Given the description of an element on the screen output the (x, y) to click on. 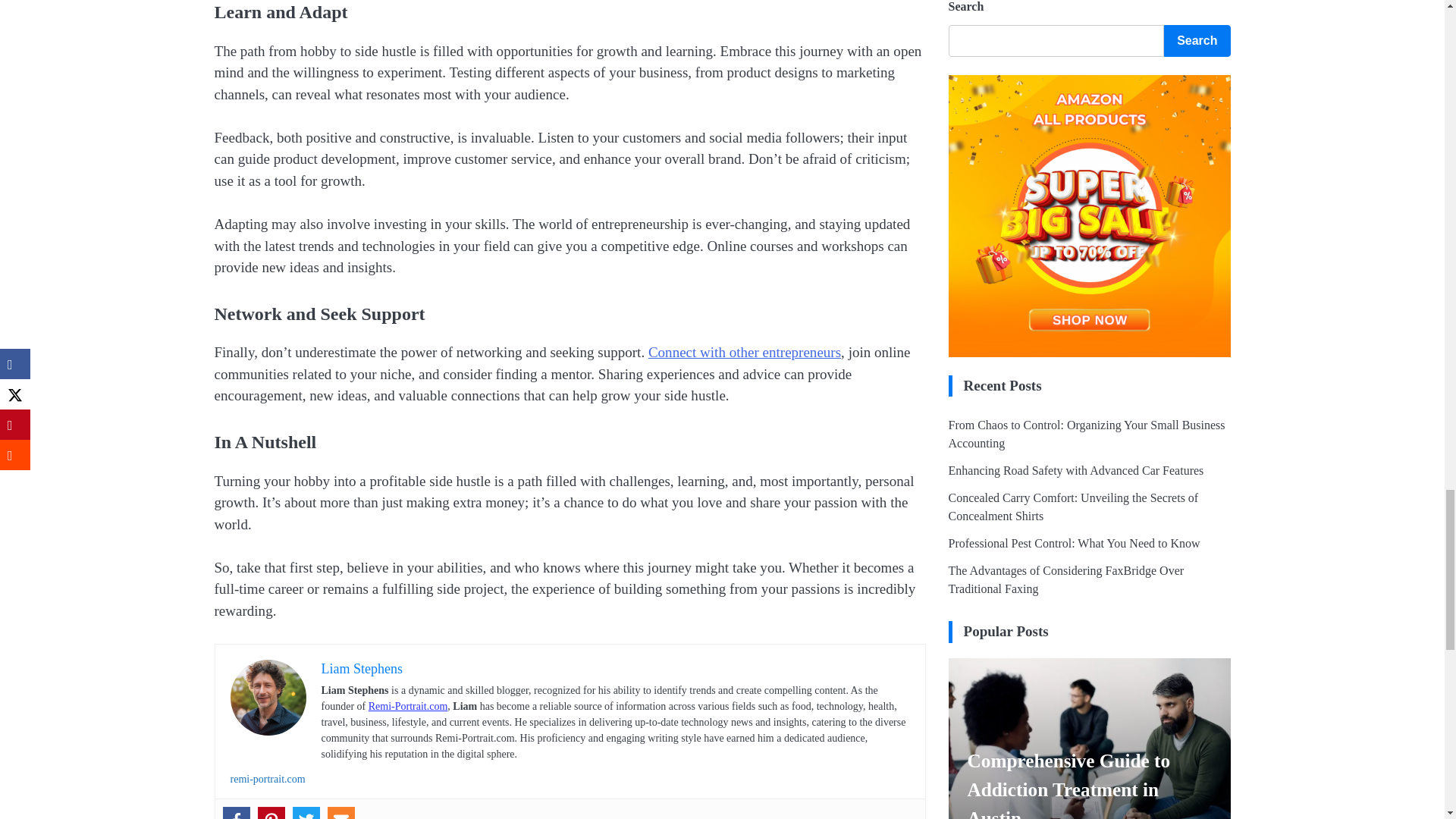
Facebook (236, 812)
Pinterest (271, 812)
Twitter (306, 812)
User email (341, 812)
